Given the description of an element on the screen output the (x, y) to click on. 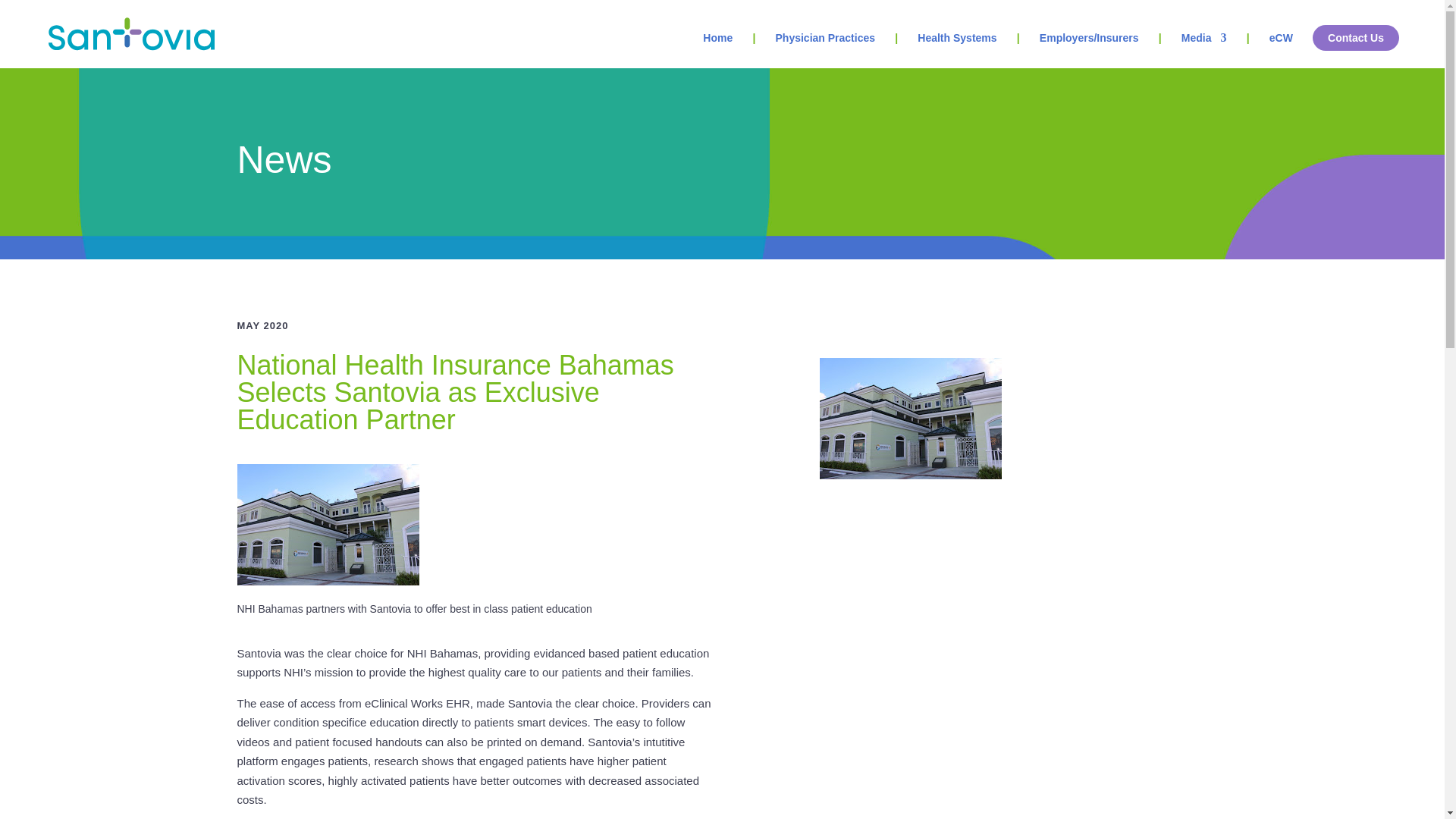
Media (1203, 49)
Contact Us (1356, 37)
Health Systems (956, 49)
Physician Practices (824, 49)
